Given the description of an element on the screen output the (x, y) to click on. 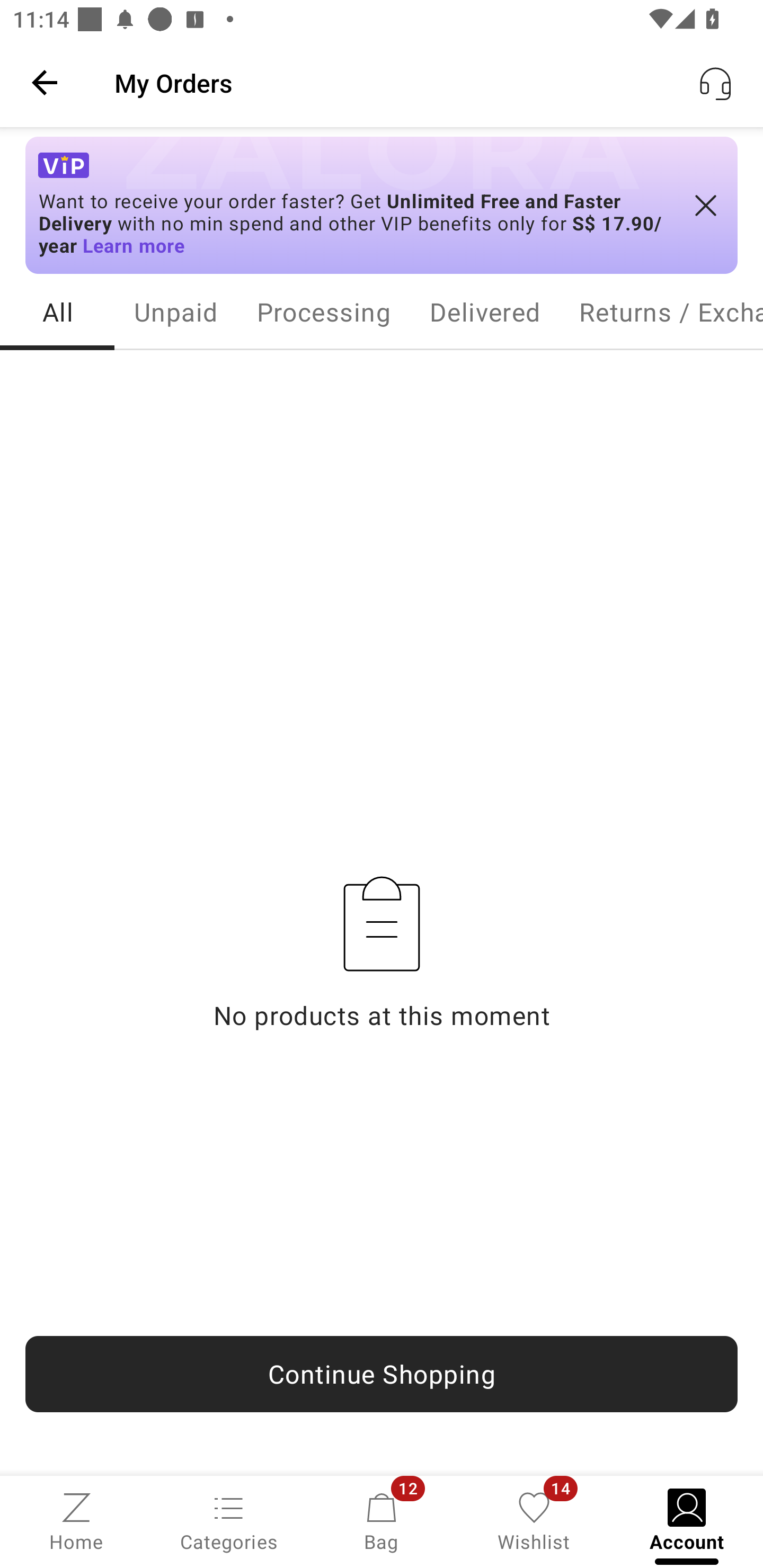
Navigate up (44, 82)
My Orders (426, 82)
Unpaid (175, 311)
Processing (322, 311)
Delivered (484, 311)
Returns / Exchanges (661, 311)
Continue Shopping (381, 1373)
Home (76, 1519)
Categories (228, 1519)
Bag, 12 new notifications Bag (381, 1519)
Wishlist, 14 new notifications Wishlist (533, 1519)
